Given the description of an element on the screen output the (x, y) to click on. 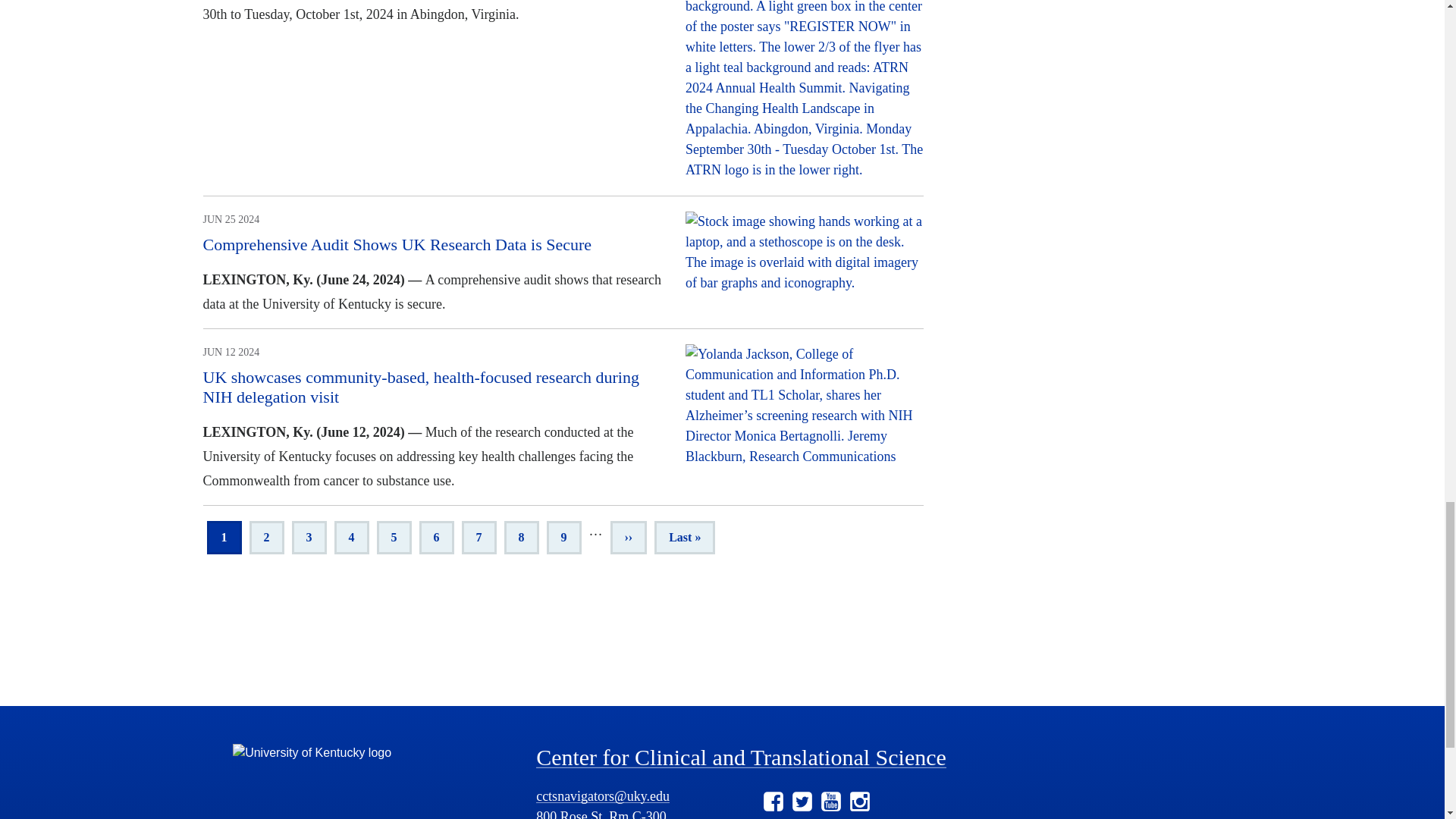
Go to page 2 (265, 537)
Instagram (859, 801)
Facebook (772, 801)
Go to page 9 (563, 537)
Twitter (801, 801)
Go to page 6 (435, 537)
Go to page 7 (478, 537)
Go to page 4 (350, 537)
Comprehensive Audit Shows UK Research Data is Secure (397, 244)
